Given the description of an element on the screen output the (x, y) to click on. 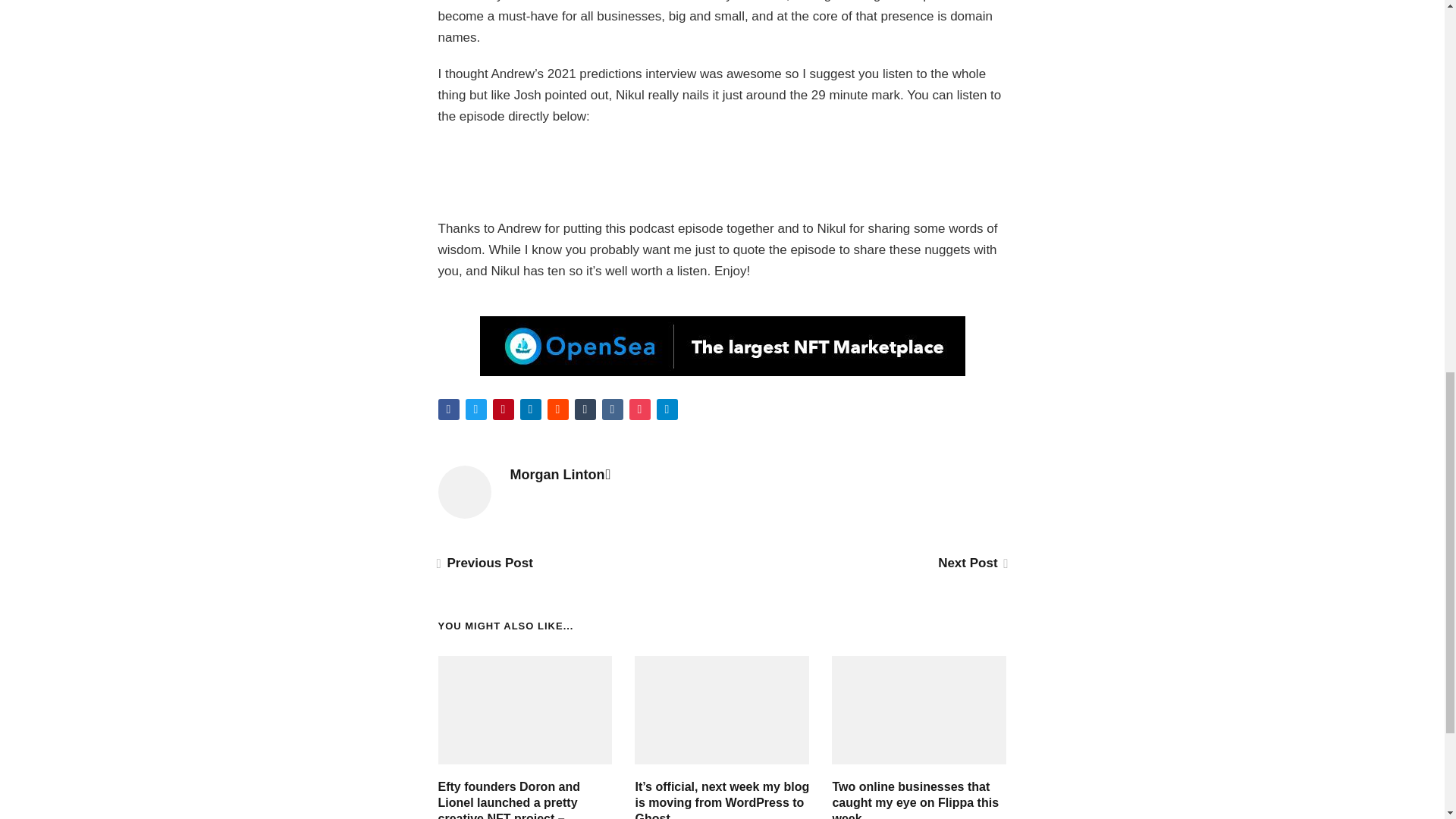
Next Post (971, 563)
Previous Post (485, 563)
